Given the description of an element on the screen output the (x, y) to click on. 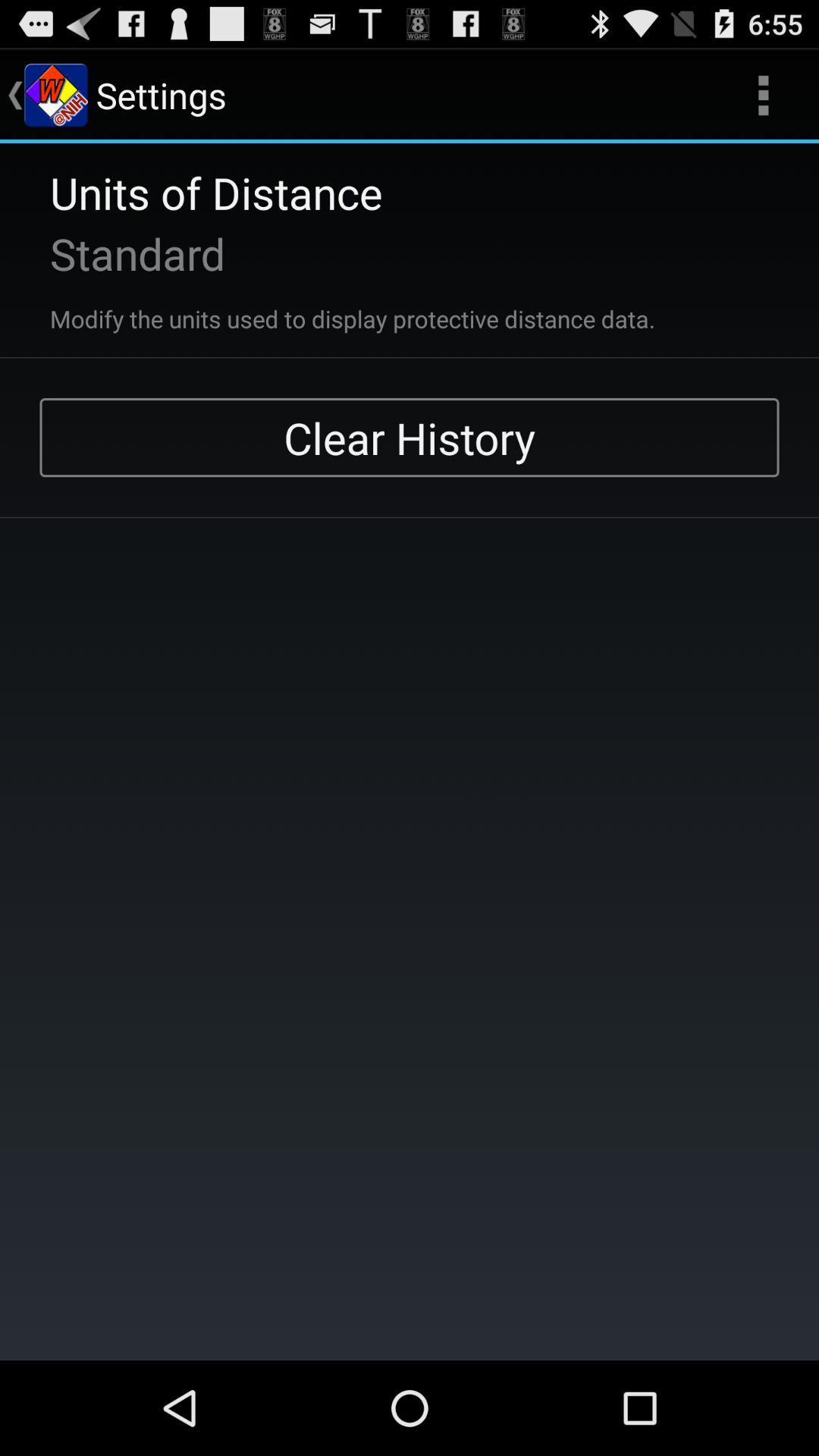
press the item above the clear history app (332, 309)
